Given the description of an element on the screen output the (x, y) to click on. 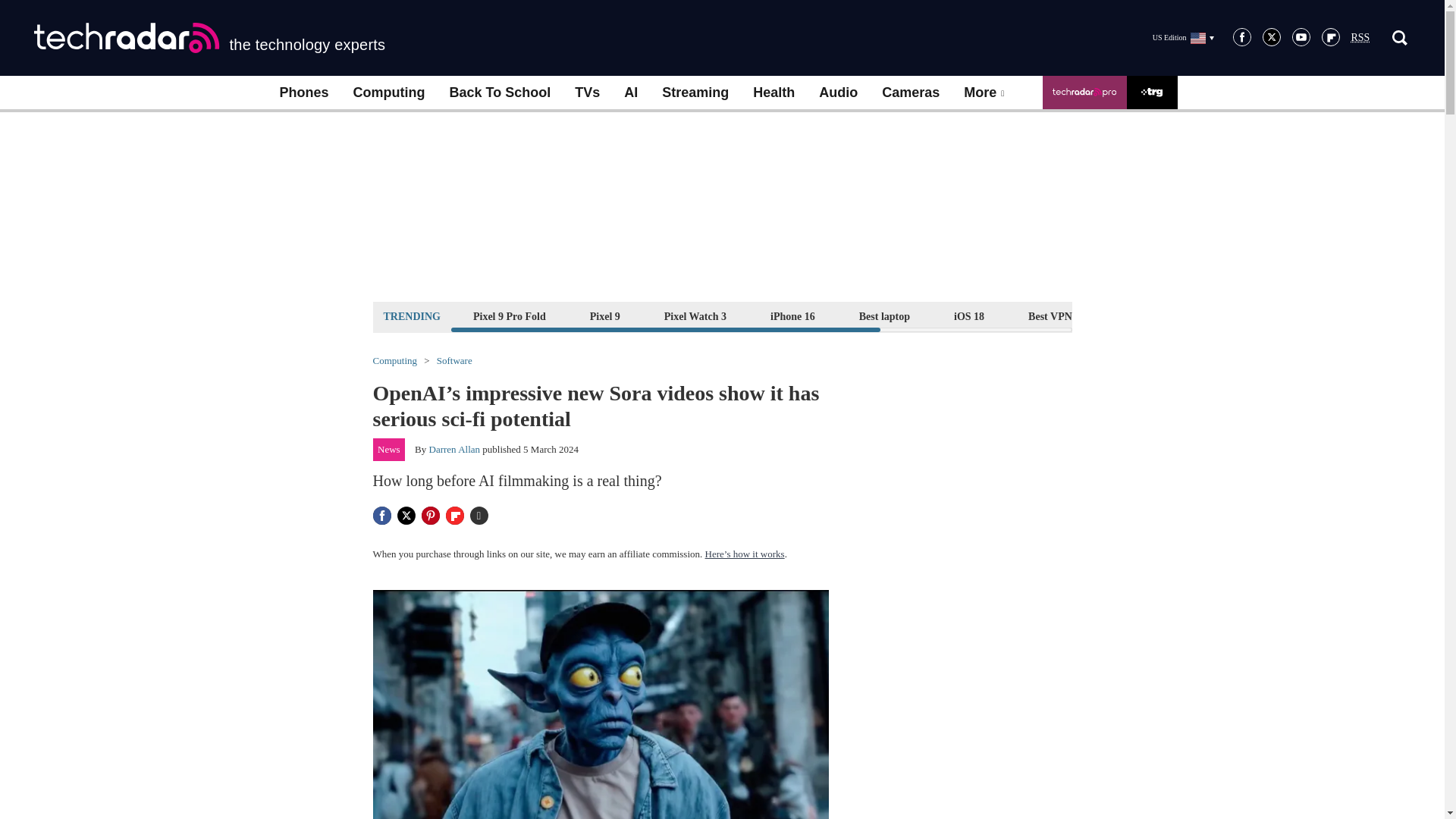
the technology experts (209, 38)
Really Simple Syndication (1360, 37)
Health (773, 92)
Audio (837, 92)
Back To School (499, 92)
US Edition (1182, 37)
Streaming (695, 92)
Computing (389, 92)
Phones (303, 92)
TVs (586, 92)
